Given the description of an element on the screen output the (x, y) to click on. 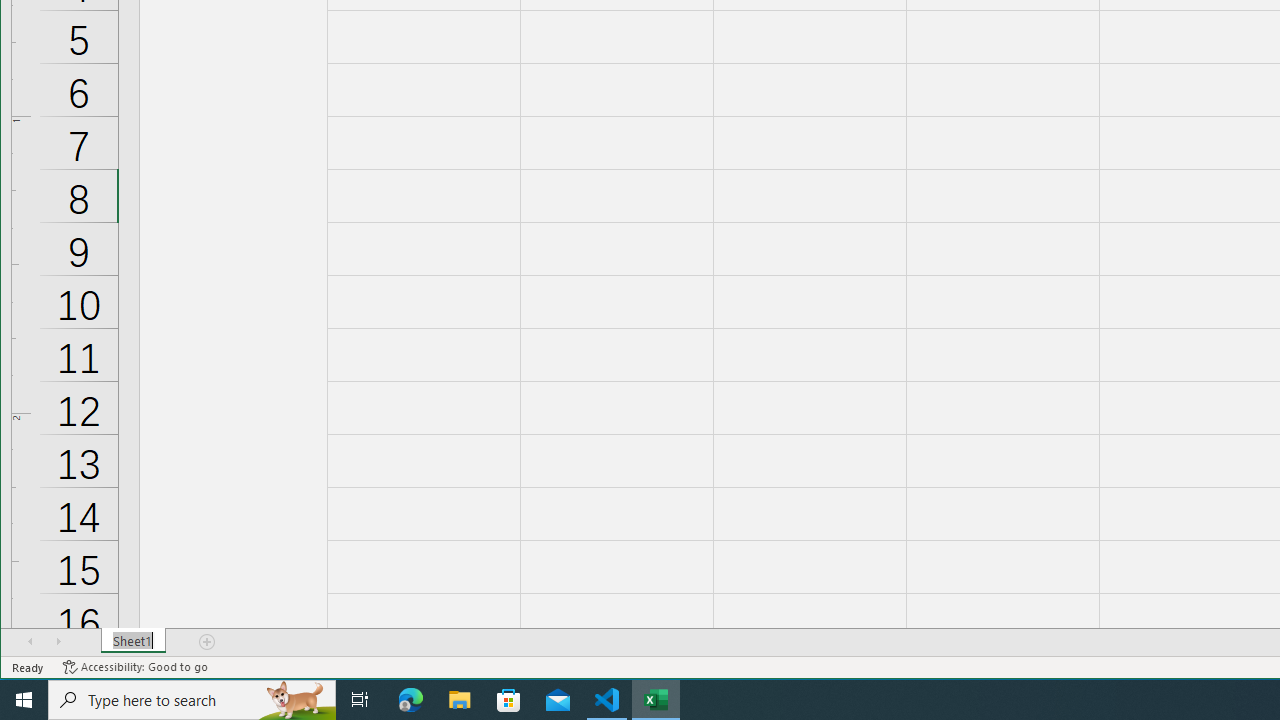
Sheet Tab (133, 641)
